Given the description of an element on the screen output the (x, y) to click on. 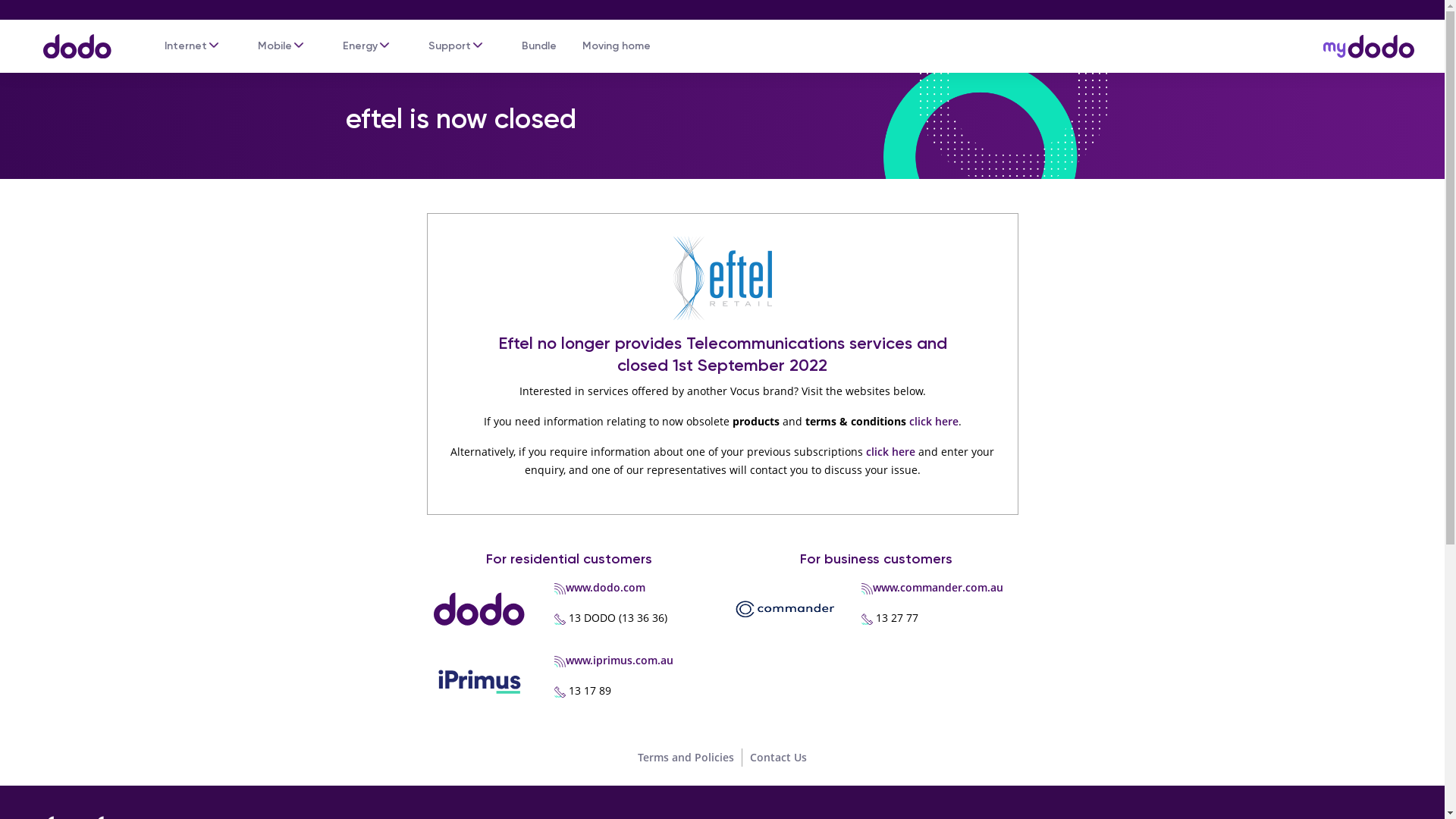
Contact Us Element type: text (777, 756)
click here Element type: text (932, 421)
www.commander.com.au Element type: text (937, 587)
Energy Element type: text (359, 45)
Skip to main content Element type: text (721, 1)
Home Element type: hover (69, 38)
Support Element type: text (449, 45)
Mobile Element type: text (274, 45)
Moving home Element type: text (616, 45)
www.iprimus.com.au Element type: text (619, 659)
Bundle Element type: text (538, 45)
www.dodo.com Element type: text (605, 587)
Internet Element type: text (185, 45)
Terms and Policies Element type: text (685, 756)
click here Element type: text (890, 451)
